Given the description of an element on the screen output the (x, y) to click on. 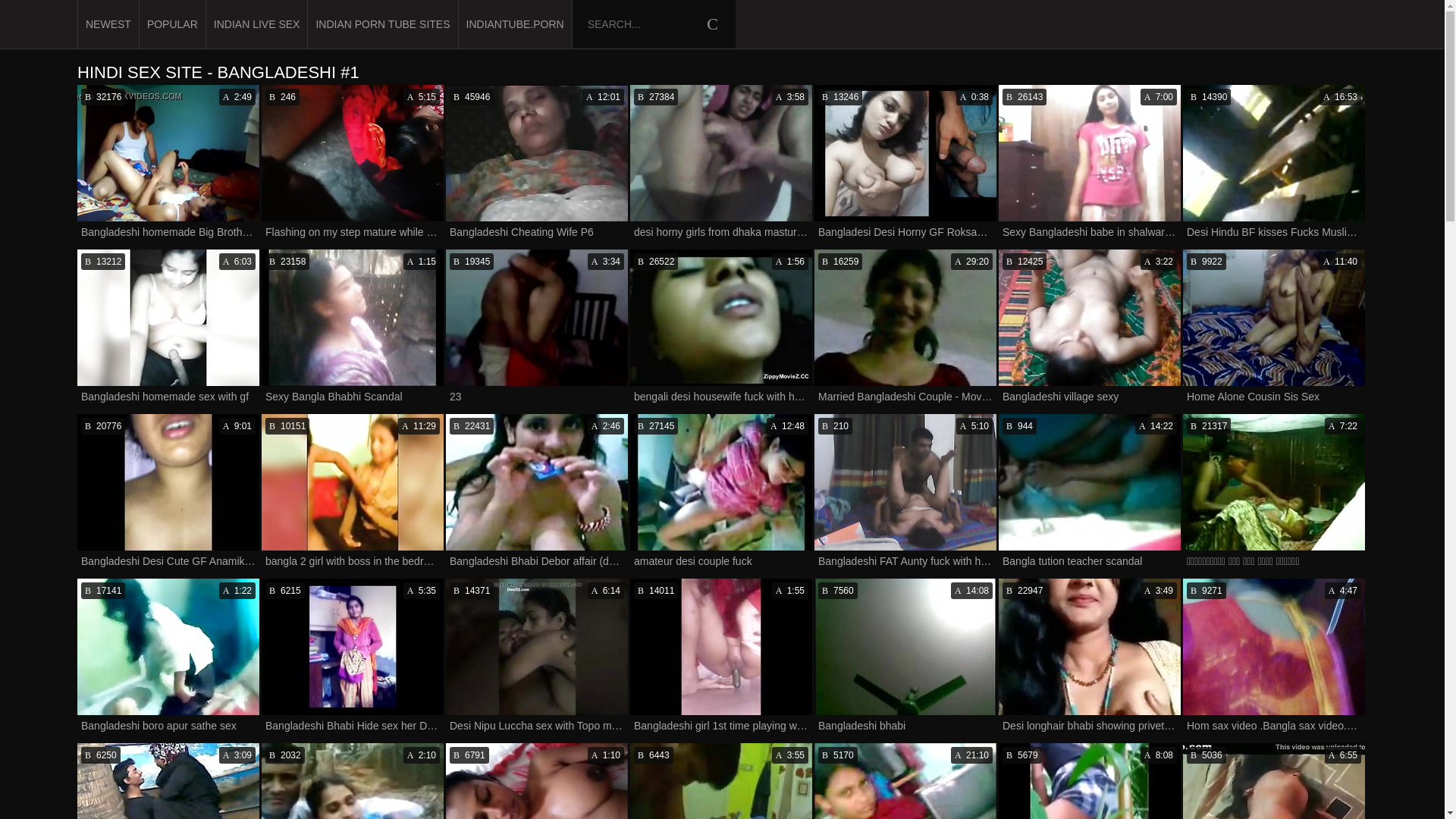
POPULAR (172, 24)
NEWEST (904, 328)
INDIANTUBE.PORN (168, 780)
